Given the description of an element on the screen output the (x, y) to click on. 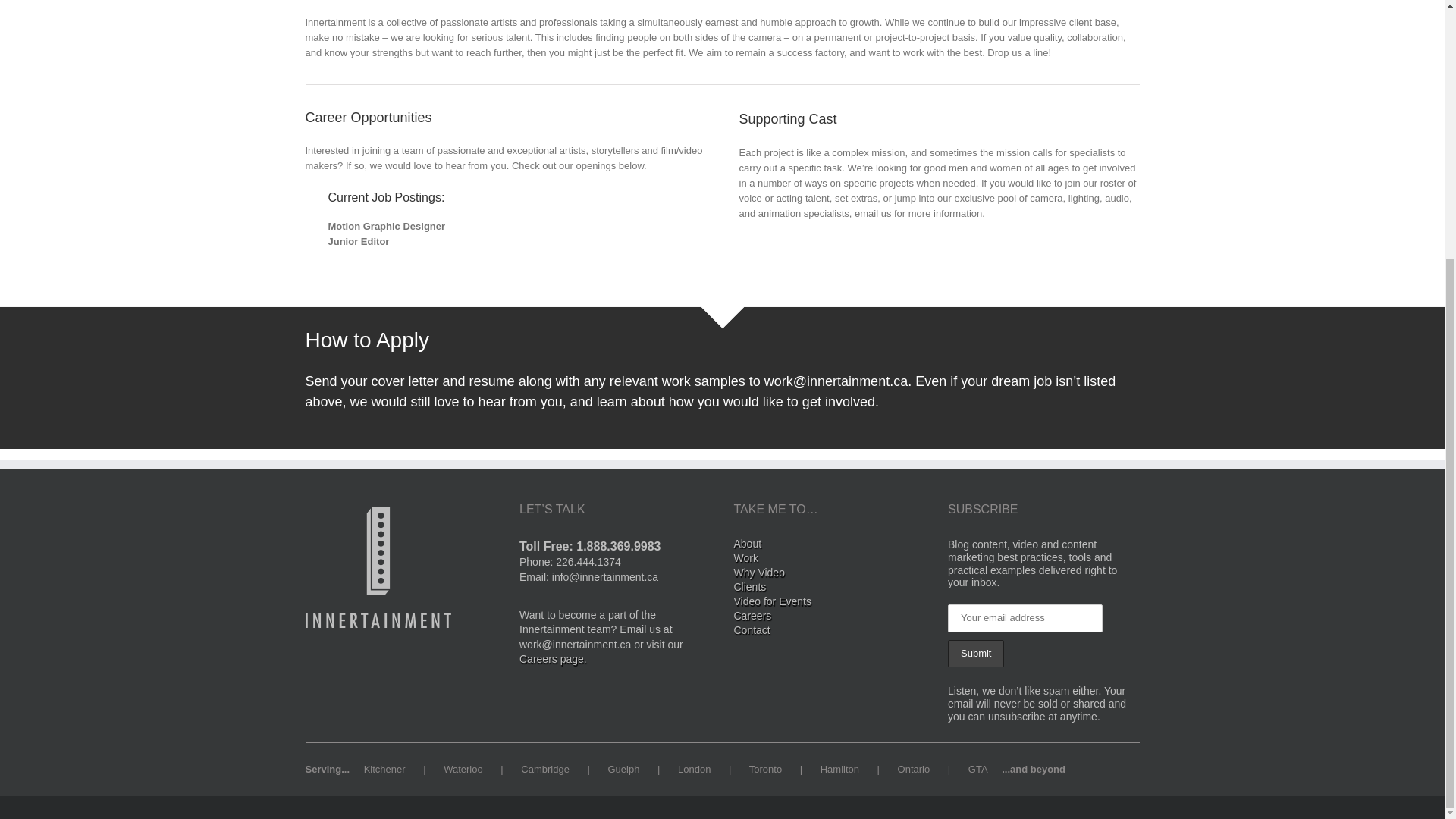
Submit (975, 653)
About (829, 545)
Contact (829, 631)
Careers (829, 617)
Clients (829, 588)
Careers page. (552, 658)
Work (829, 559)
Why Video (829, 574)
Submit (975, 653)
Video for Events (829, 603)
